Given the description of an element on the screen output the (x, y) to click on. 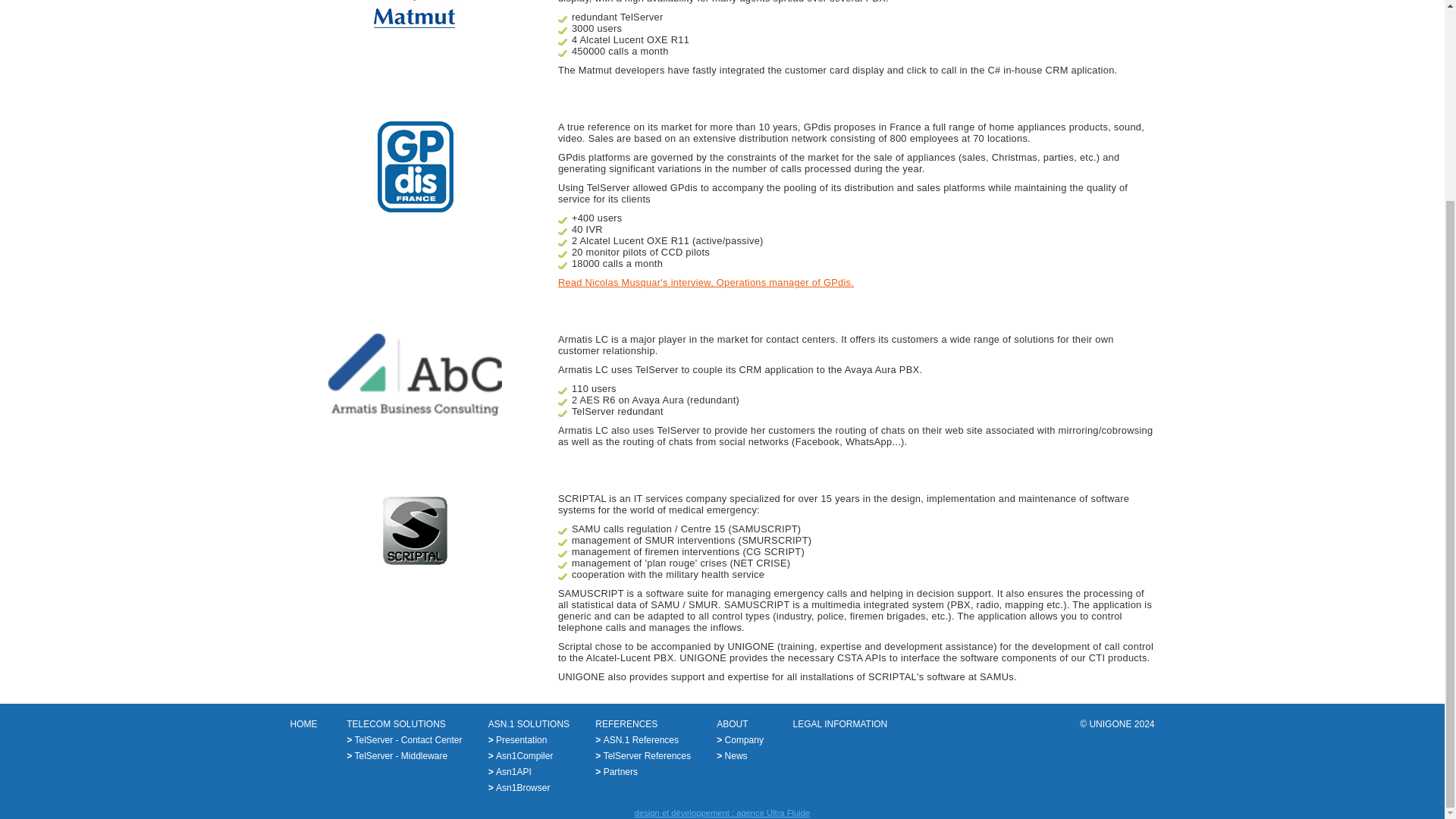
ABOUT (732, 724)
ASN.1 SOLUTIONS (528, 724)
TelServer - Contact Center (403, 739)
TelServer - Middleware (396, 756)
Asn1Compiler (520, 756)
Company (739, 739)
HOME (303, 724)
Asn1Browser (518, 787)
TELECOM SOLUTIONS (395, 724)
Partners (616, 771)
Presentation (517, 739)
REFERENCES (626, 724)
Asn1API (509, 771)
LEGAL INFORMATION (840, 724)
